Given the description of an element on the screen output the (x, y) to click on. 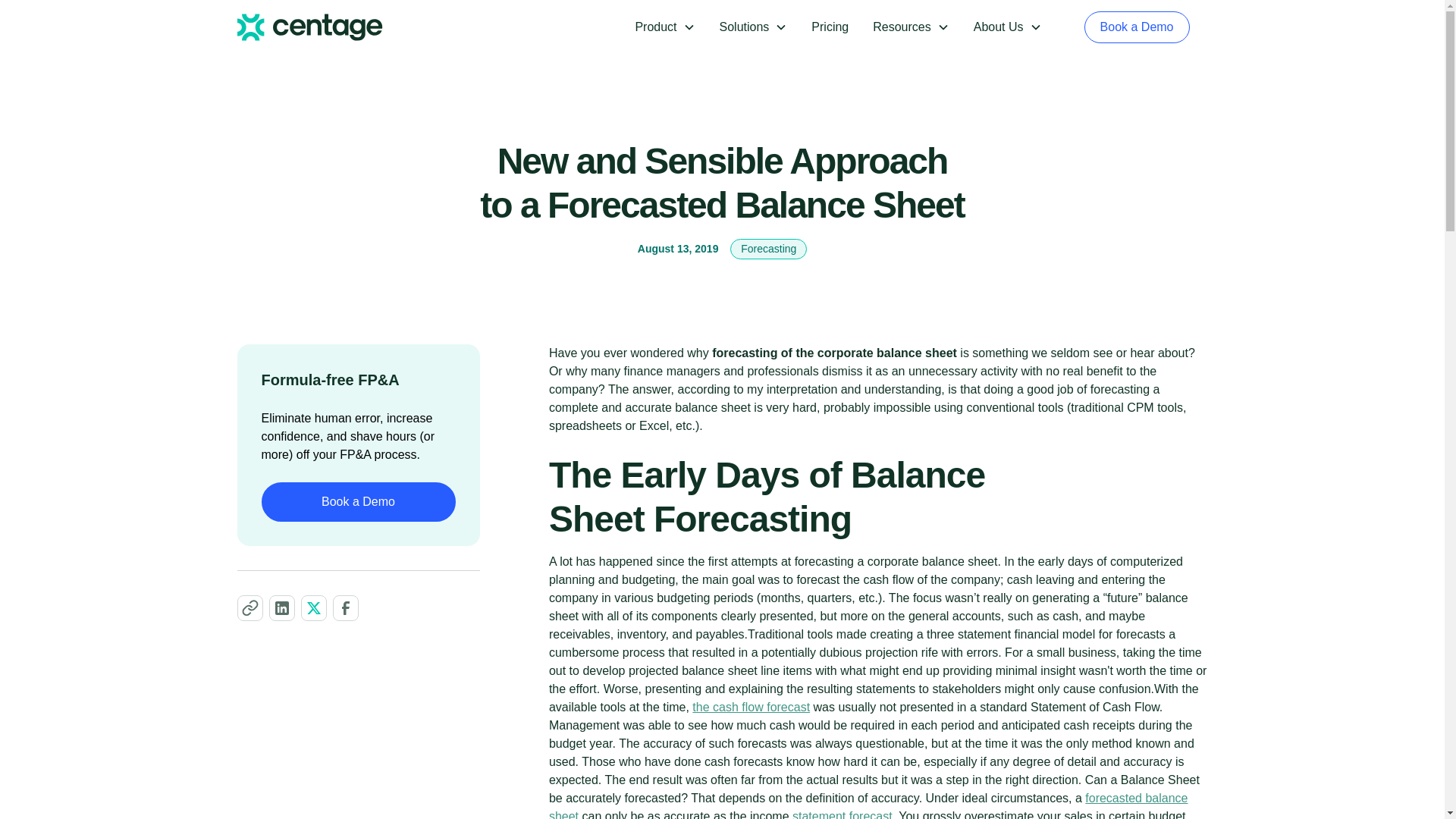
Book a Demo (1136, 27)
statement forecast (842, 814)
Pricing (829, 27)
forecasted balance sheet (868, 805)
Book a Demo (357, 501)
the cash flow forecast (751, 707)
